Given the description of an element on the screen output the (x, y) to click on. 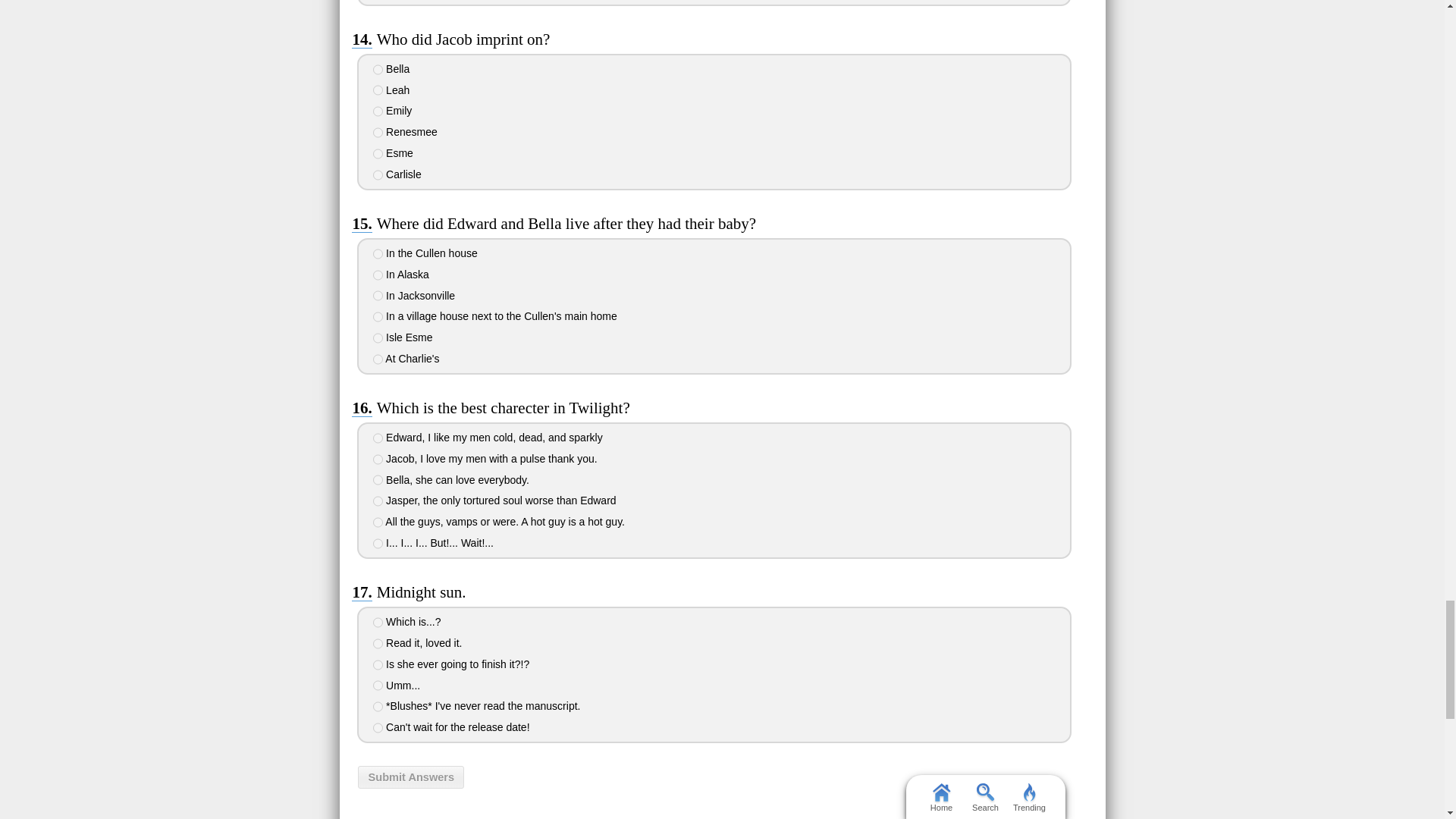
Submit Answers (411, 776)
